Given the description of an element on the screen output the (x, y) to click on. 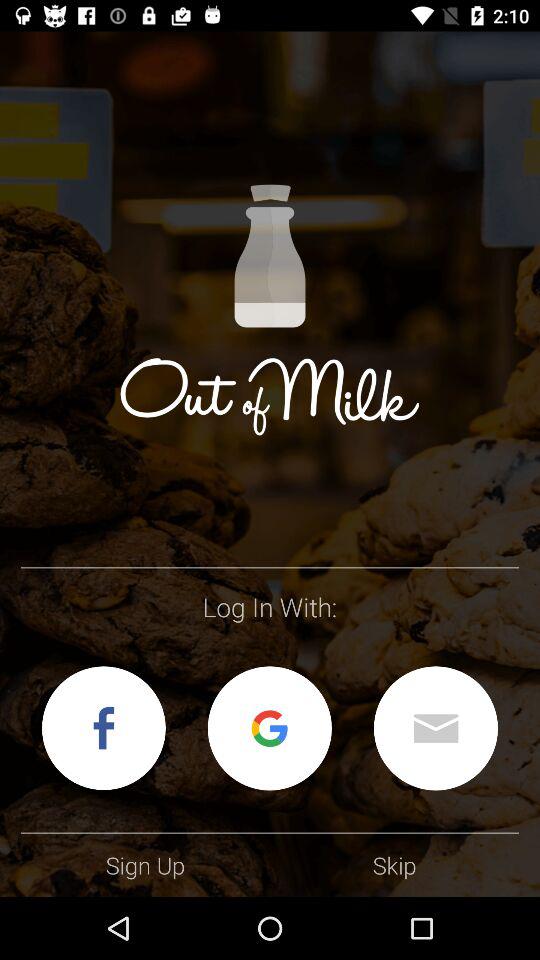
use facebook account (103, 728)
